Given the description of an element on the screen output the (x, y) to click on. 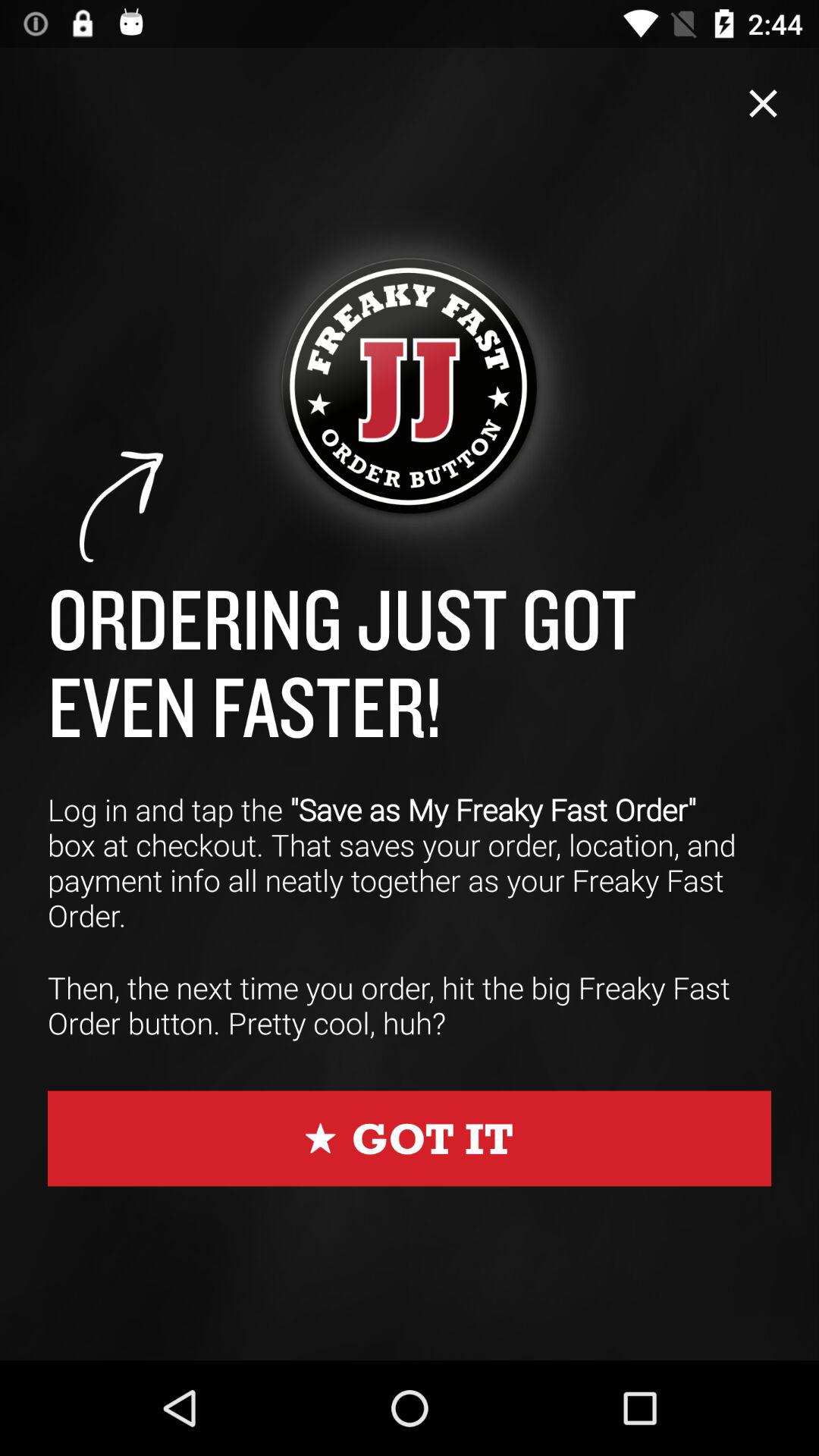
select the up arrow icon (123, 507)
